Given the description of an element on the screen output the (x, y) to click on. 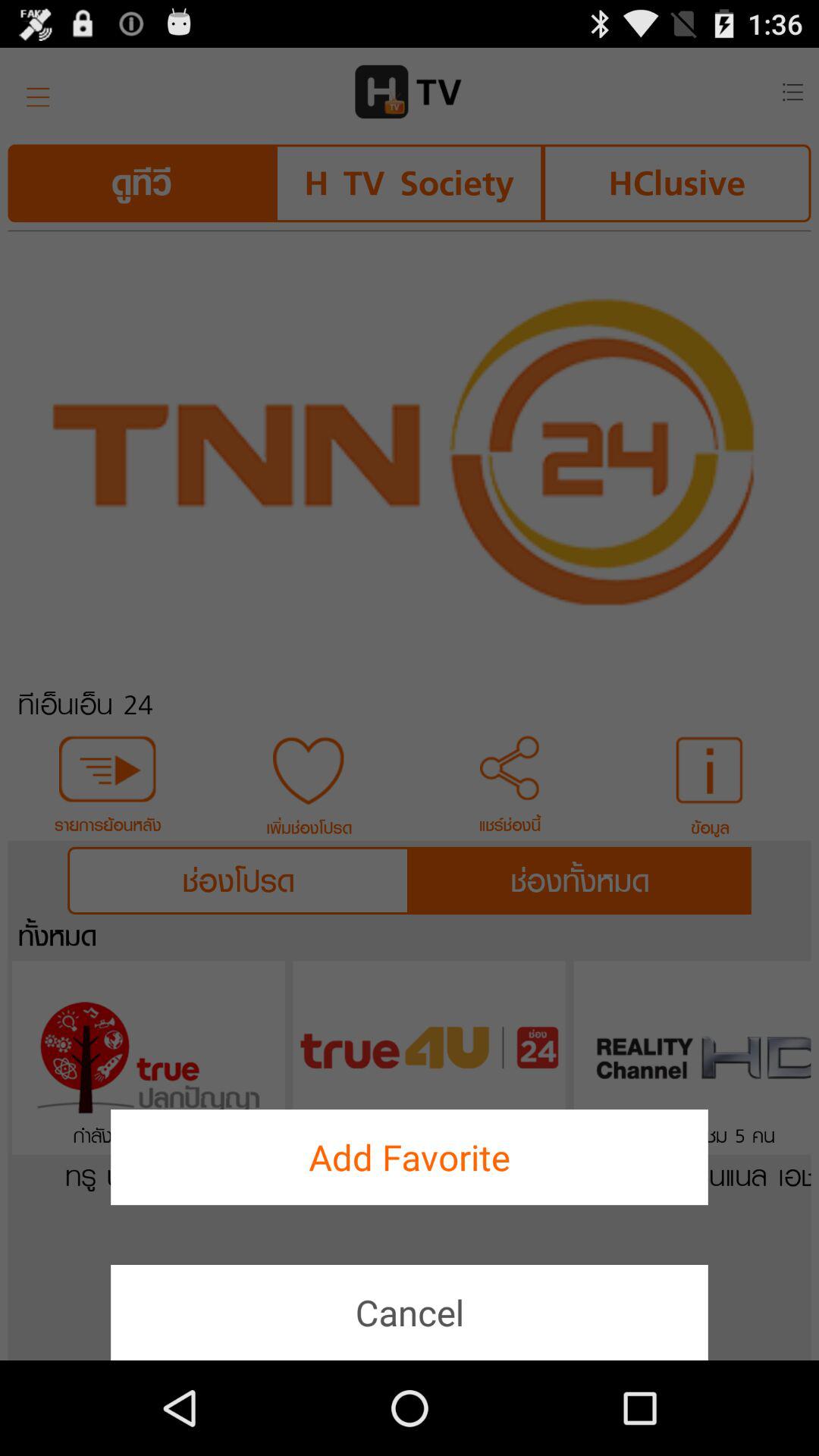
swipe to the add favorite button (409, 1157)
